Given the description of an element on the screen output the (x, y) to click on. 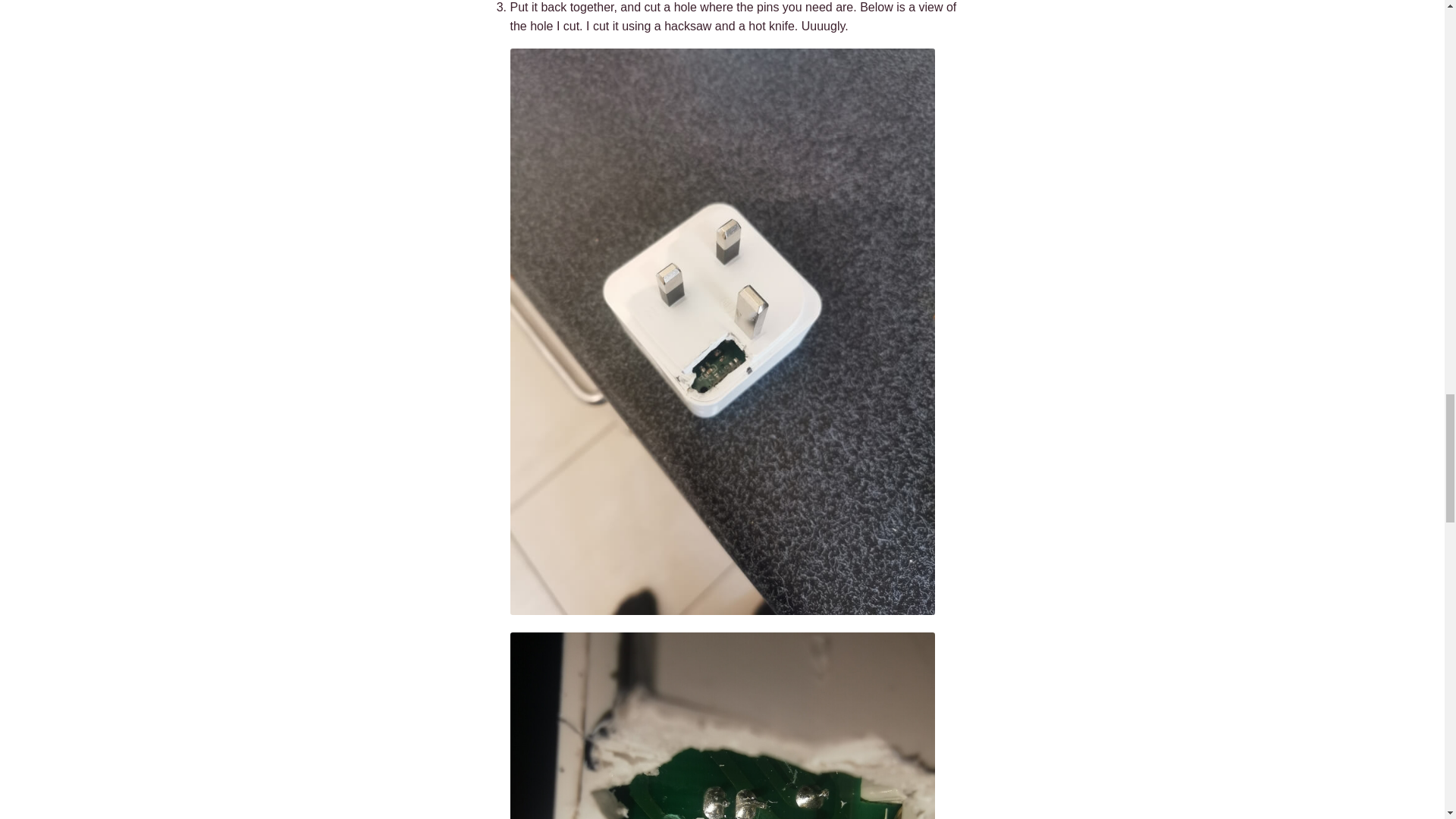
plug-pins (721, 725)
